Given the description of an element on the screen output the (x, y) to click on. 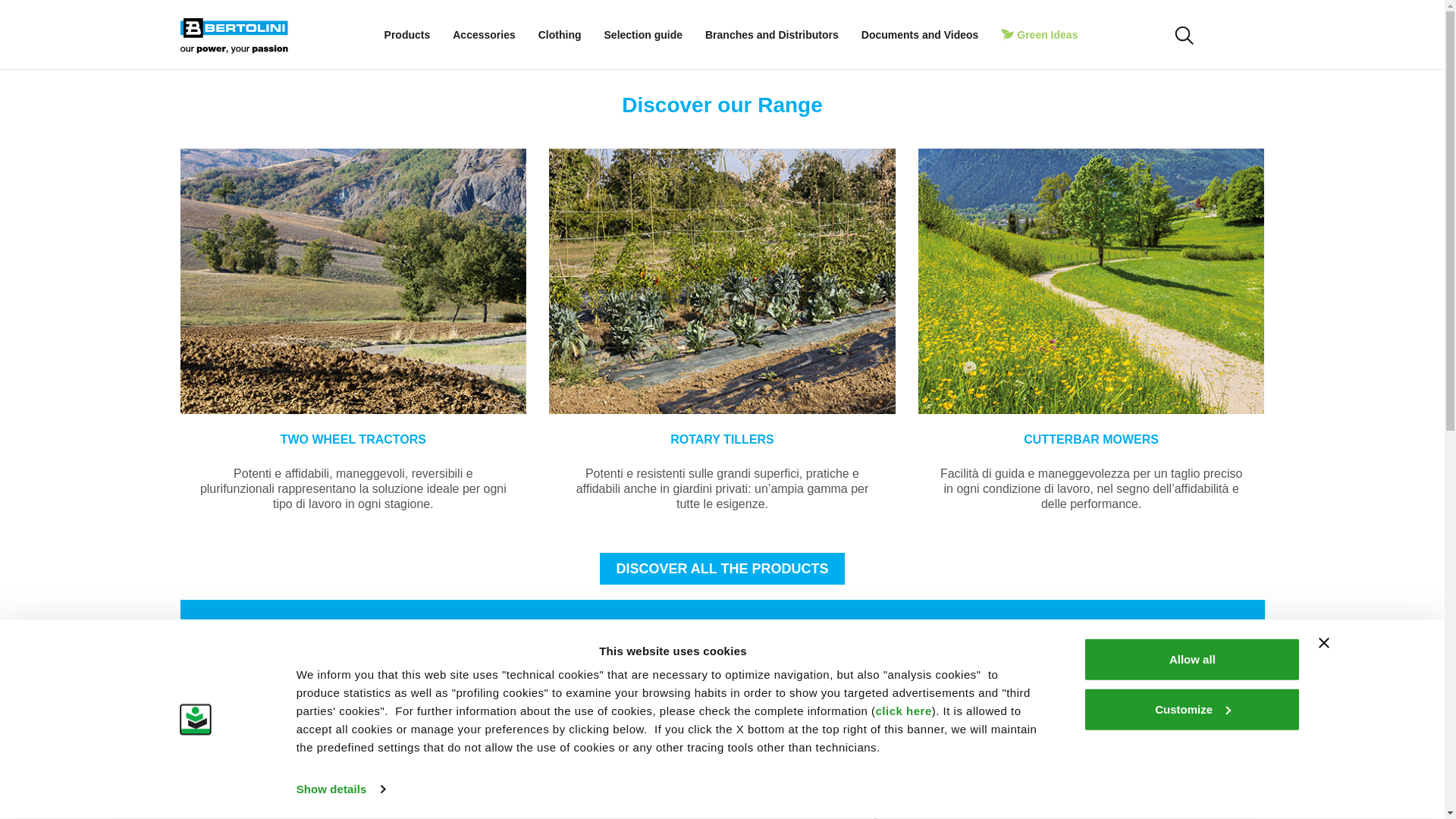
Search (1155, 676)
